Given the description of an element on the screen output the (x, y) to click on. 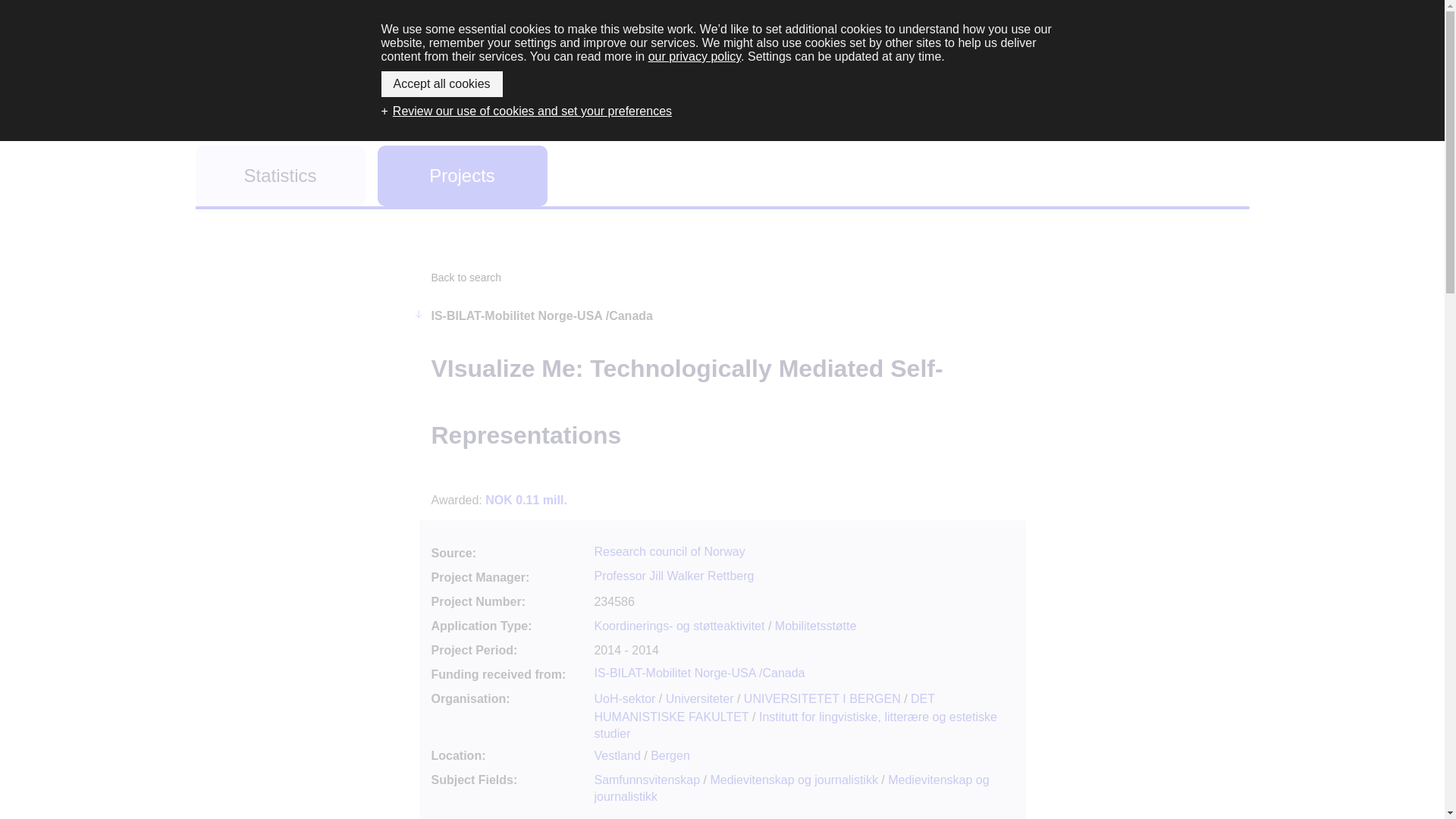
Statistics (280, 175)
Bergen (670, 755)
Universiteter (699, 698)
DET HUMANISTISKE FAKULTET (764, 707)
UoH-sektor (624, 698)
Projects (462, 175)
Vestland (617, 755)
Research council of Norway (669, 551)
Back to search (465, 277)
MENU (1207, 48)
Professor Jill Walker Rettberg (674, 575)
PROJECT BANK (722, 64)
UNIVERSITETET I BERGEN (822, 698)
Medievitenskap og journalistikk (793, 779)
Medievitenskap og journalistikk (791, 788)
